Given the description of an element on the screen output the (x, y) to click on. 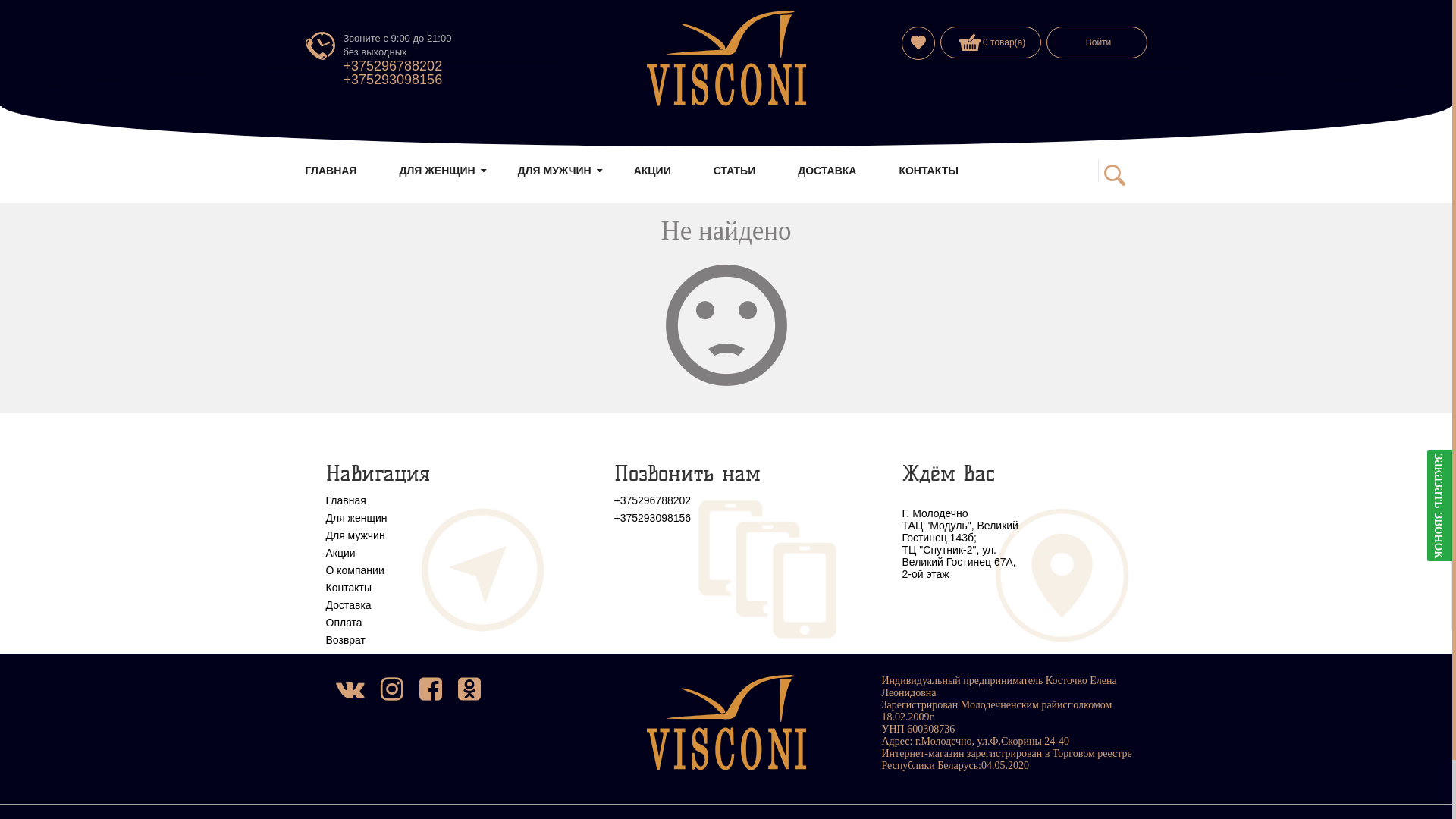
+375296788202 Element type: text (392, 65)
+375293098156 Element type: text (731, 517)
+375293098156 Element type: text (392, 79)
+375296788202 Element type: text (731, 499)
favorite Element type: text (918, 43)
VISCONI Element type: hover (725, 722)
VISCONI Element type: hover (725, 58)
